Given the description of an element on the screen output the (x, y) to click on. 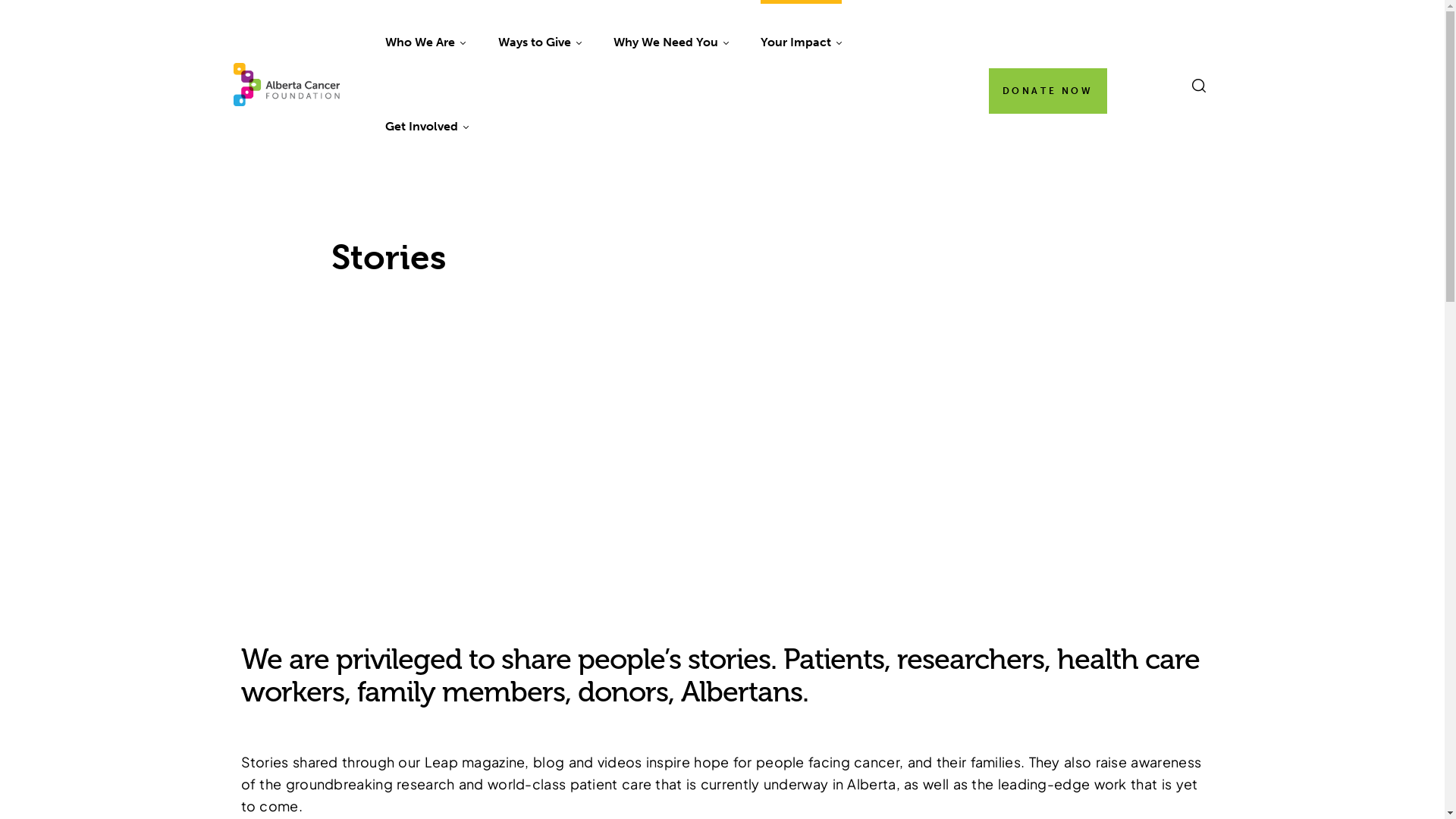
DONATE NOW Element type: text (1047, 90)
Who We Are Element type: text (425, 42)
Ways to Give Element type: text (539, 42)
Your Impact Element type: text (801, 42)
Get Involved Element type: text (426, 126)
Why We Need You Element type: text (671, 42)
